Given the description of an element on the screen output the (x, y) to click on. 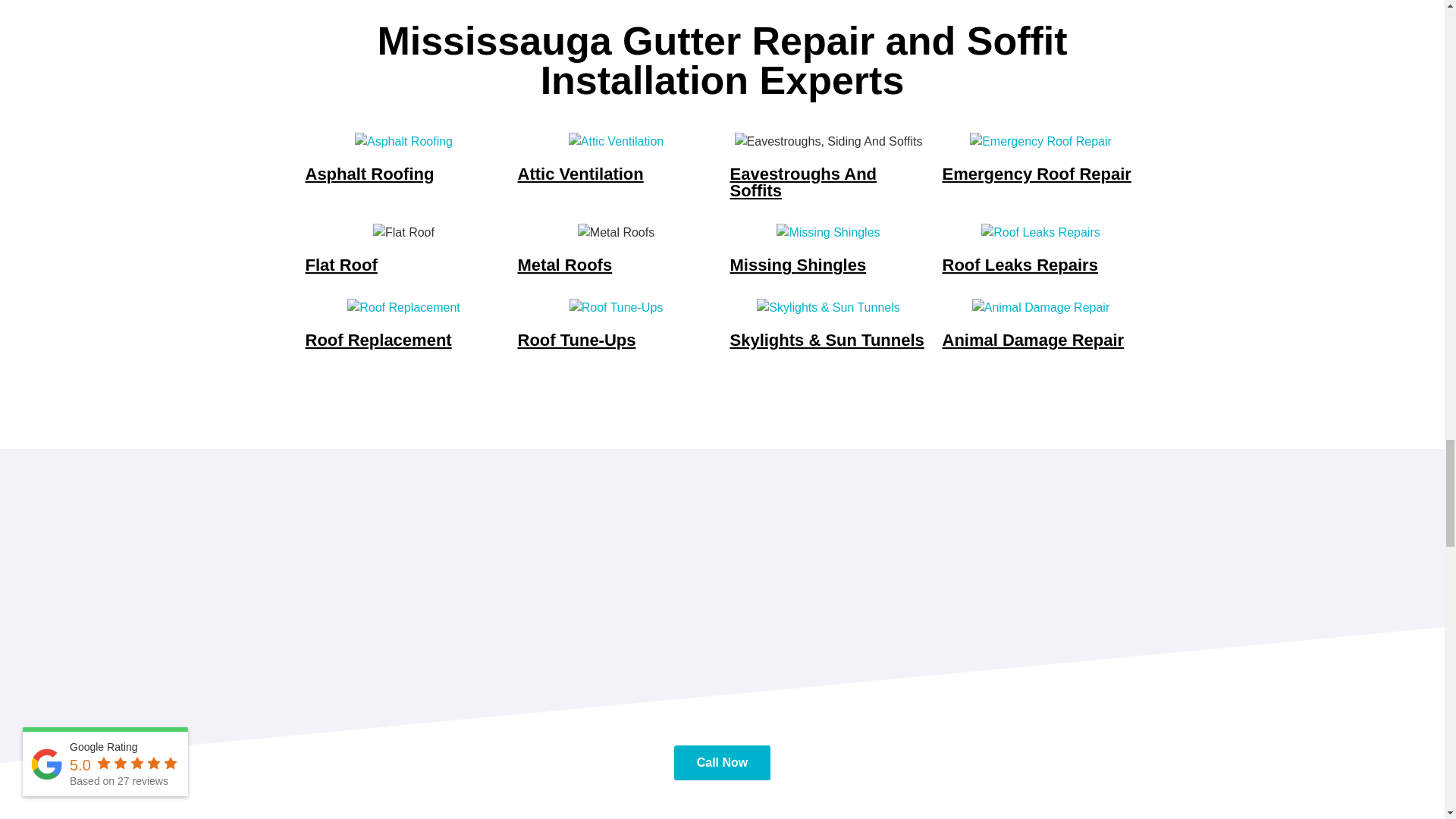
Emergency Roof Repair (1040, 140)
Asphalt Roofing (403, 140)
Roof Replacement (403, 307)
Roof Tune-Ups (616, 307)
Animal Damage Repair (1040, 307)
Attic Ventilation (616, 140)
Missing Shingles (827, 232)
Metal Roofs (615, 232)
Roof Leaks Repairs (1040, 232)
Eavestroughs, Siding And Soffits (829, 140)
Flat Roof (402, 232)
